Given the description of an element on the screen output the (x, y) to click on. 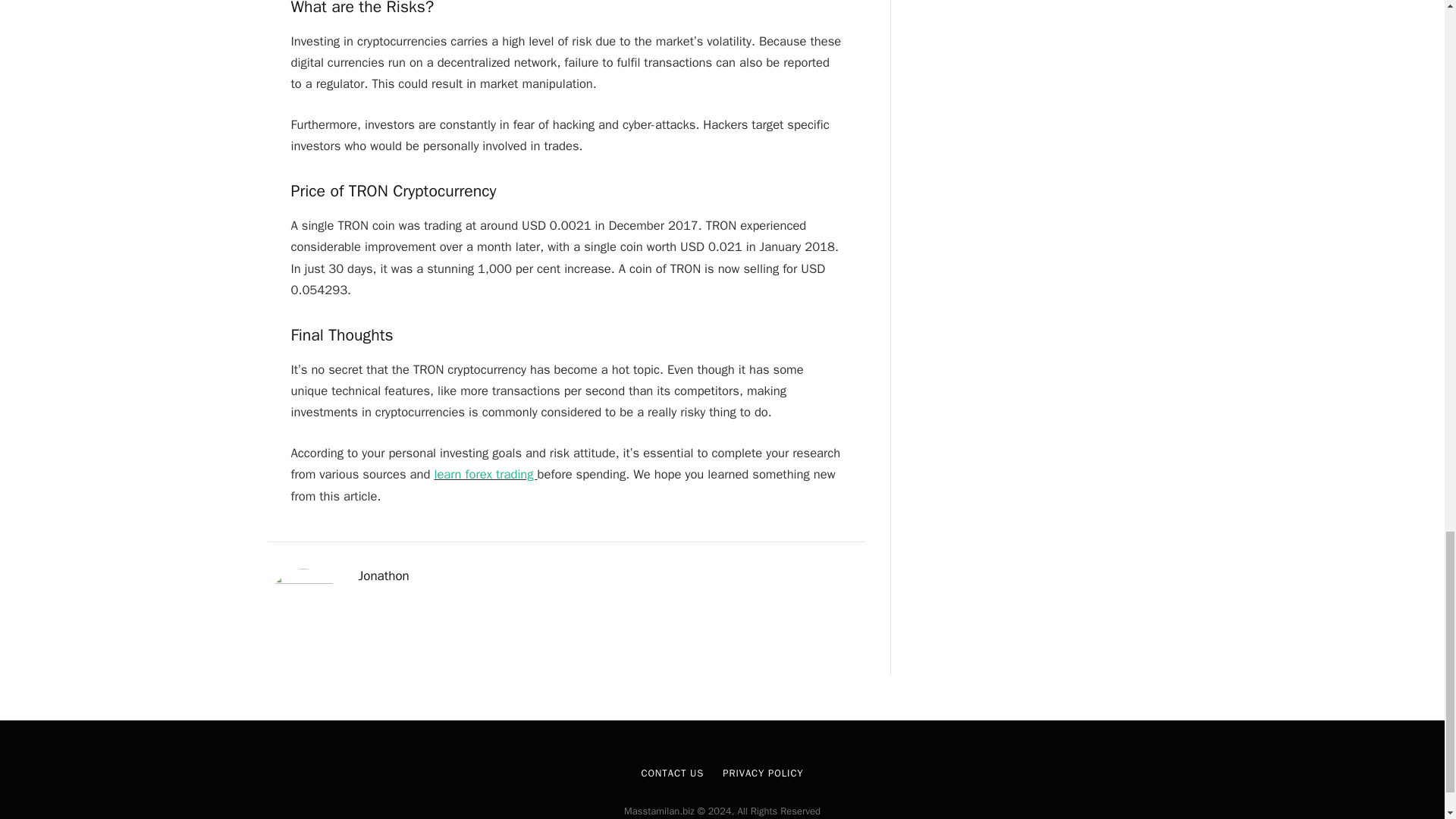
learn forex trading (485, 474)
Jonathon (383, 575)
Posts by Jonathon (383, 575)
